Given the description of an element on the screen output the (x, y) to click on. 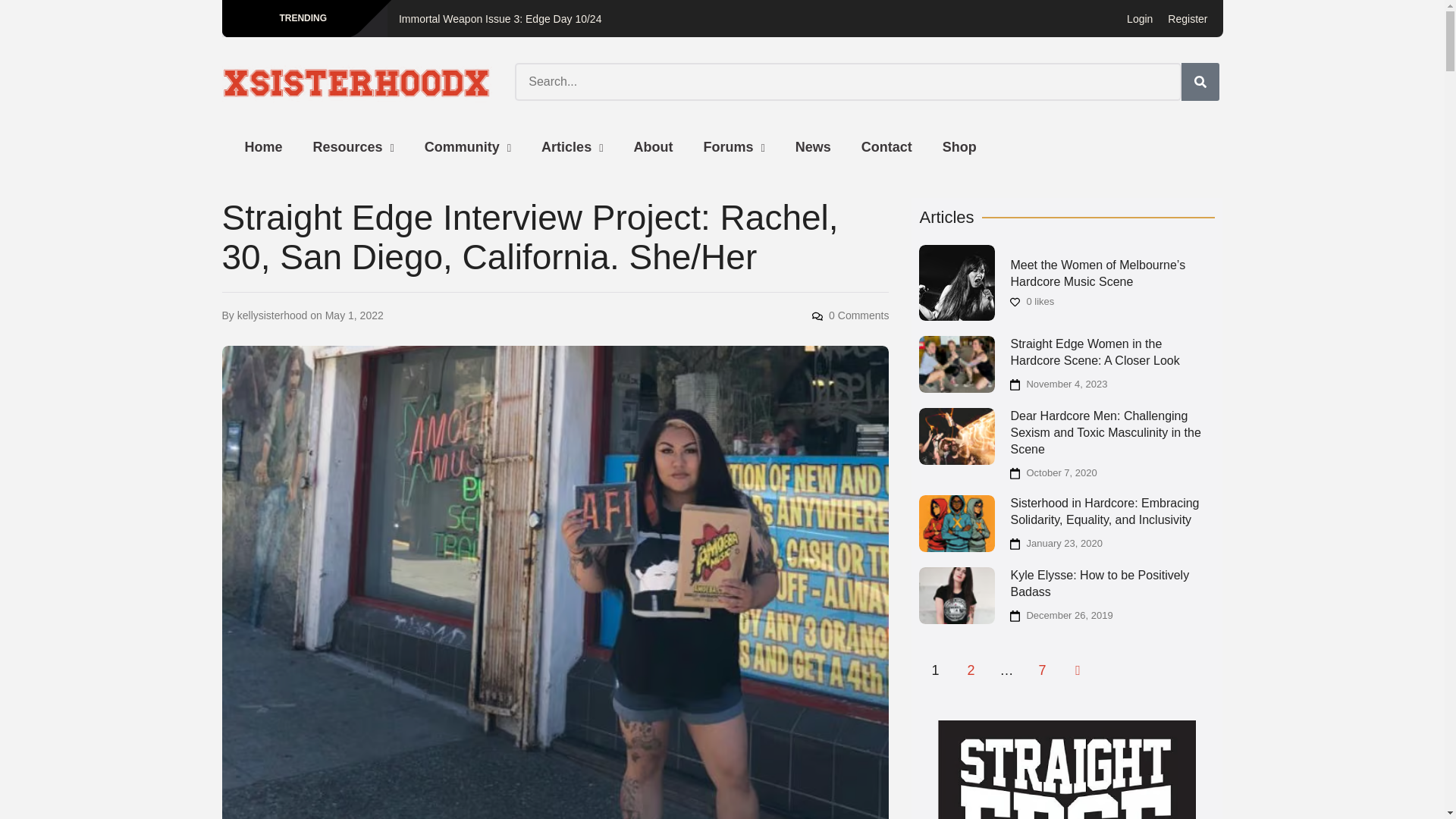
Community (467, 147)
Articles (572, 147)
Login (1139, 18)
Resources (353, 147)
Register (1187, 18)
Home (262, 146)
